Given the description of an element on the screen output the (x, y) to click on. 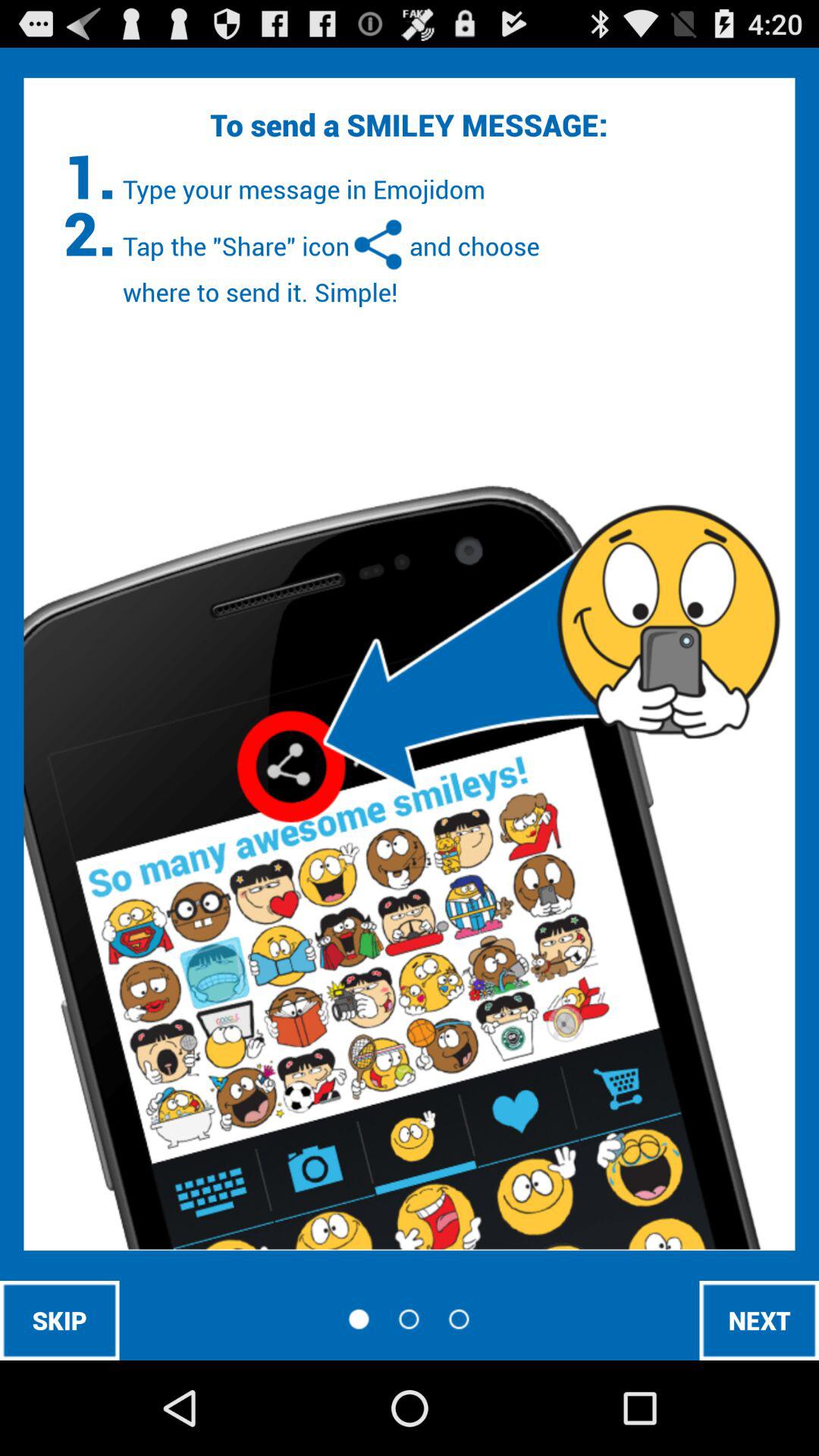
press next item (759, 1320)
